Given the description of an element on the screen output the (x, y) to click on. 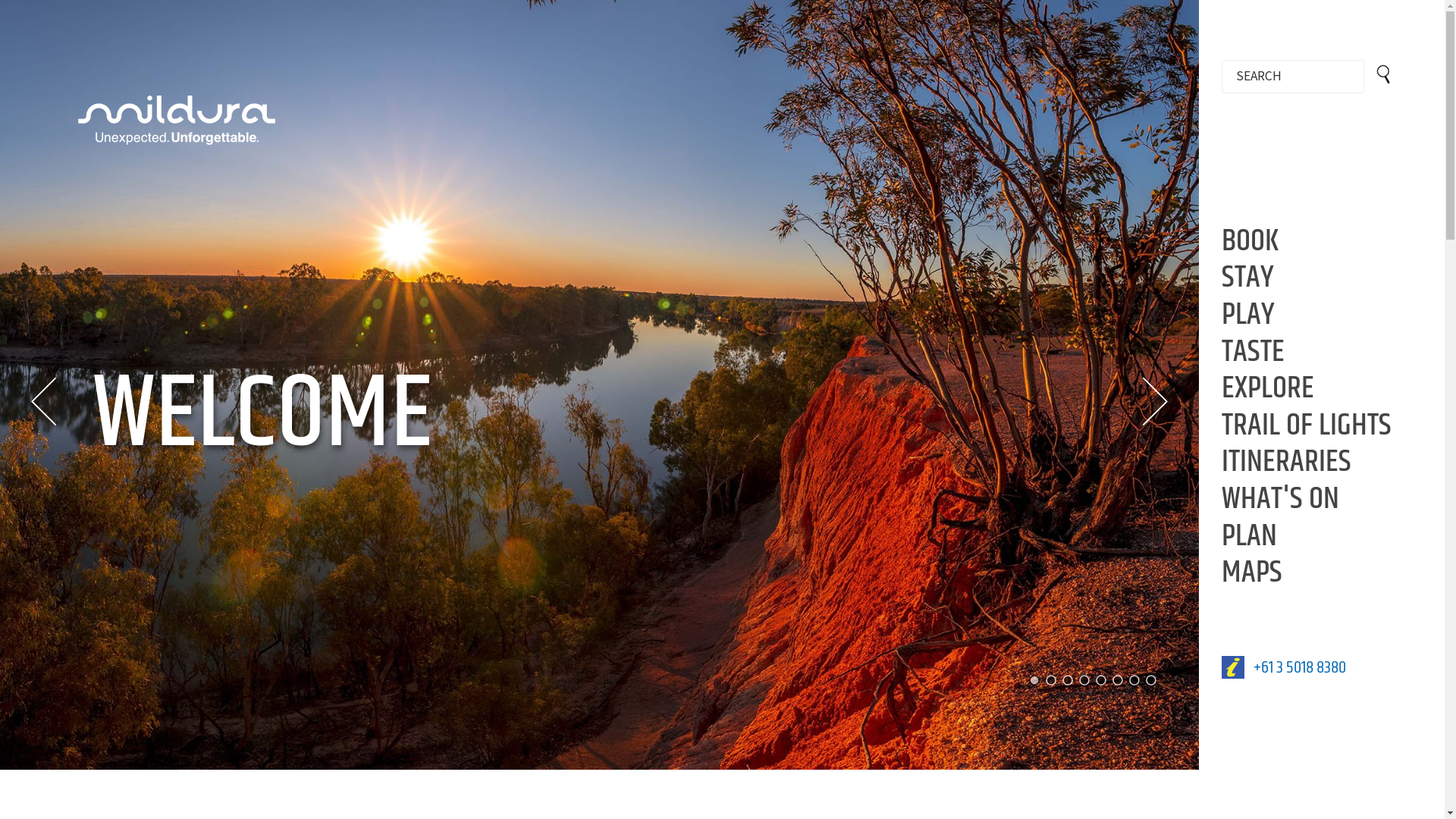
EXPLORE Element type: text (1267, 387)
MAPS Element type: text (1251, 572)
BOOK Element type: text (1249, 240)
ITINERARIES Element type: text (1286, 461)
WHAT'S ON Element type: text (1280, 498)
TASTE Element type: text (1252, 350)
WELCOME Element type: text (400, 480)
TRAIL OF LIGHTS Element type: text (1306, 424)
PLAN Element type: text (1249, 535)
PLAY Element type: text (1247, 314)
STAY Element type: text (1247, 277)
